Given the description of an element on the screen output the (x, y) to click on. 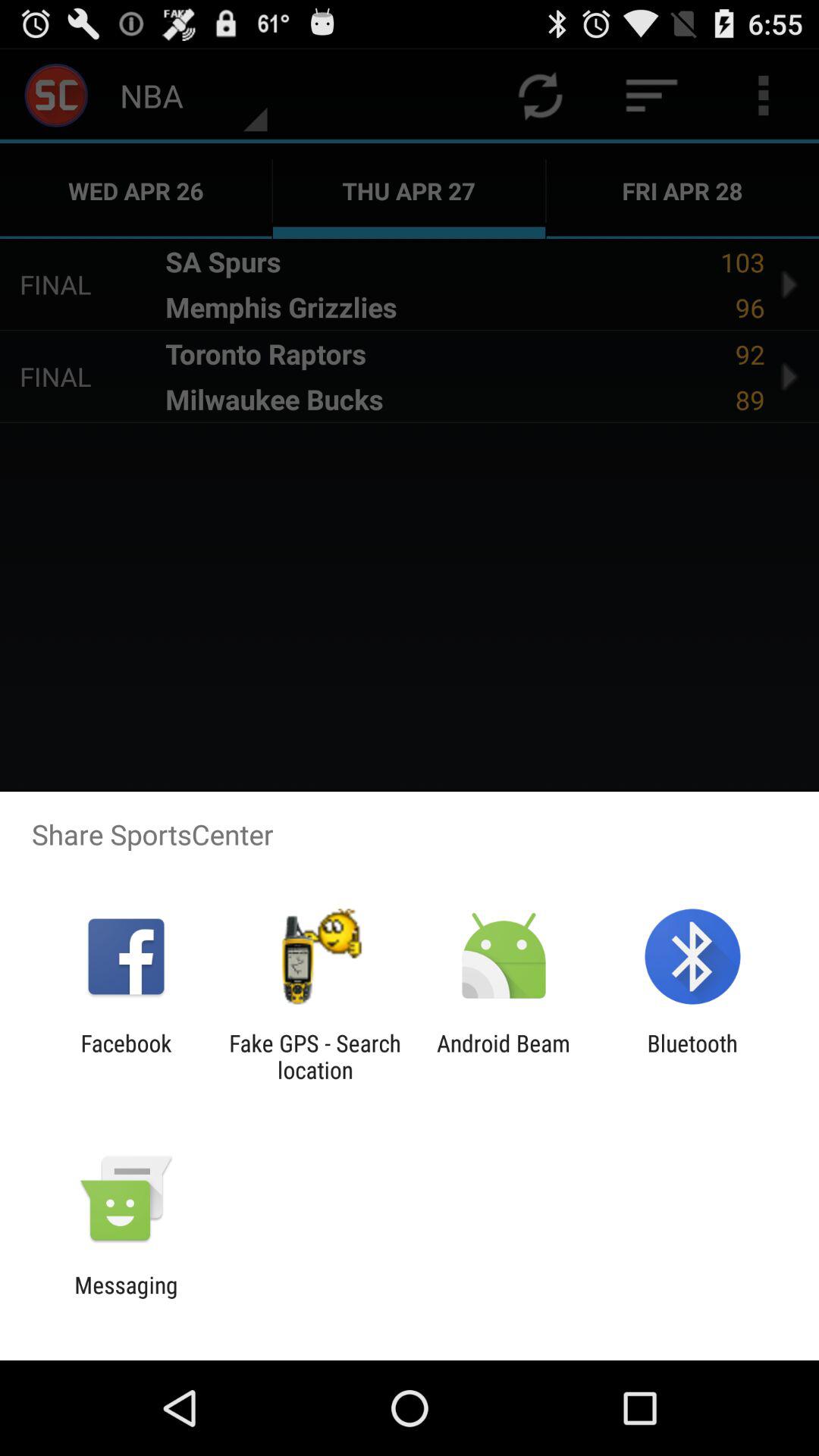
turn off icon to the left of the android beam app (314, 1056)
